Given the description of an element on the screen output the (x, y) to click on. 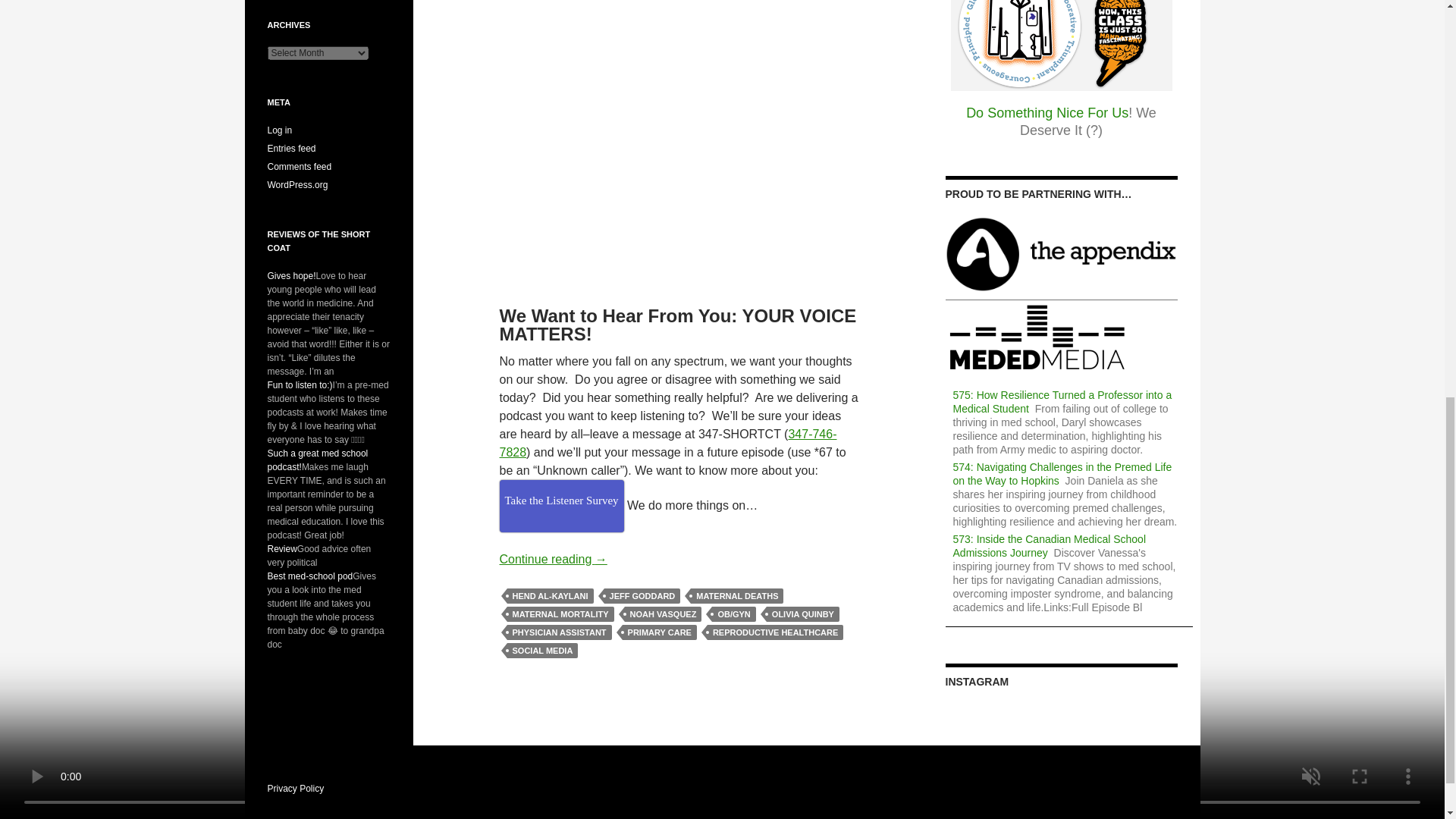
JEFF GODDARD (642, 595)
NOAH VASQUEZ (662, 613)
Take the Listener Survey (561, 505)
OLIVIA QUINBY (803, 613)
YouTube video player (679, 136)
MATERNAL MORTALITY (559, 613)
MATERNAL DEATHS (736, 595)
347-746-7828 (667, 442)
HEND AL-KAYLANI (549, 595)
